Given the description of an element on the screen output the (x, y) to click on. 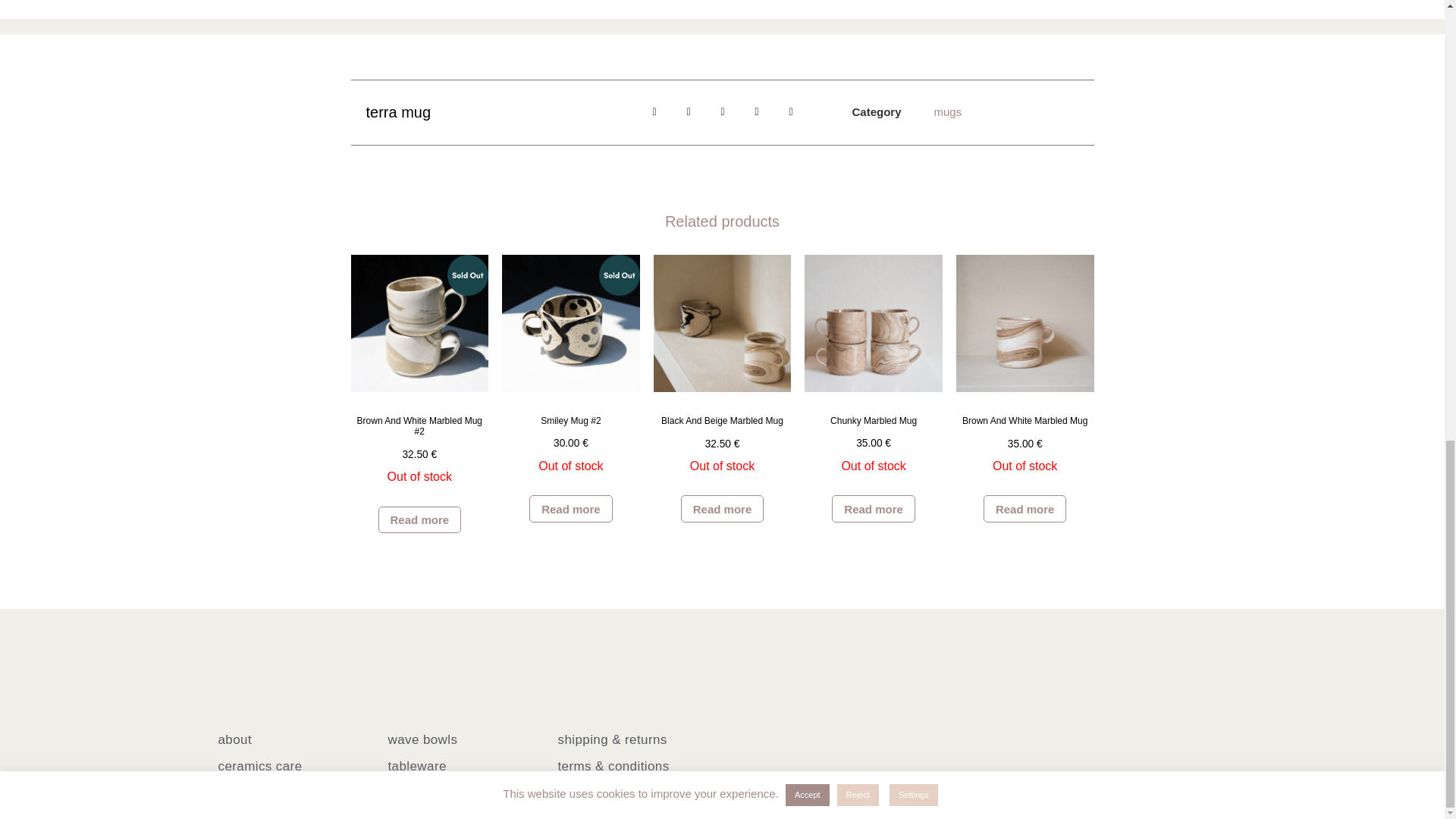
Read more (722, 508)
Read more (419, 519)
mugs (946, 111)
Read more (570, 508)
